Given the description of an element on the screen output the (x, y) to click on. 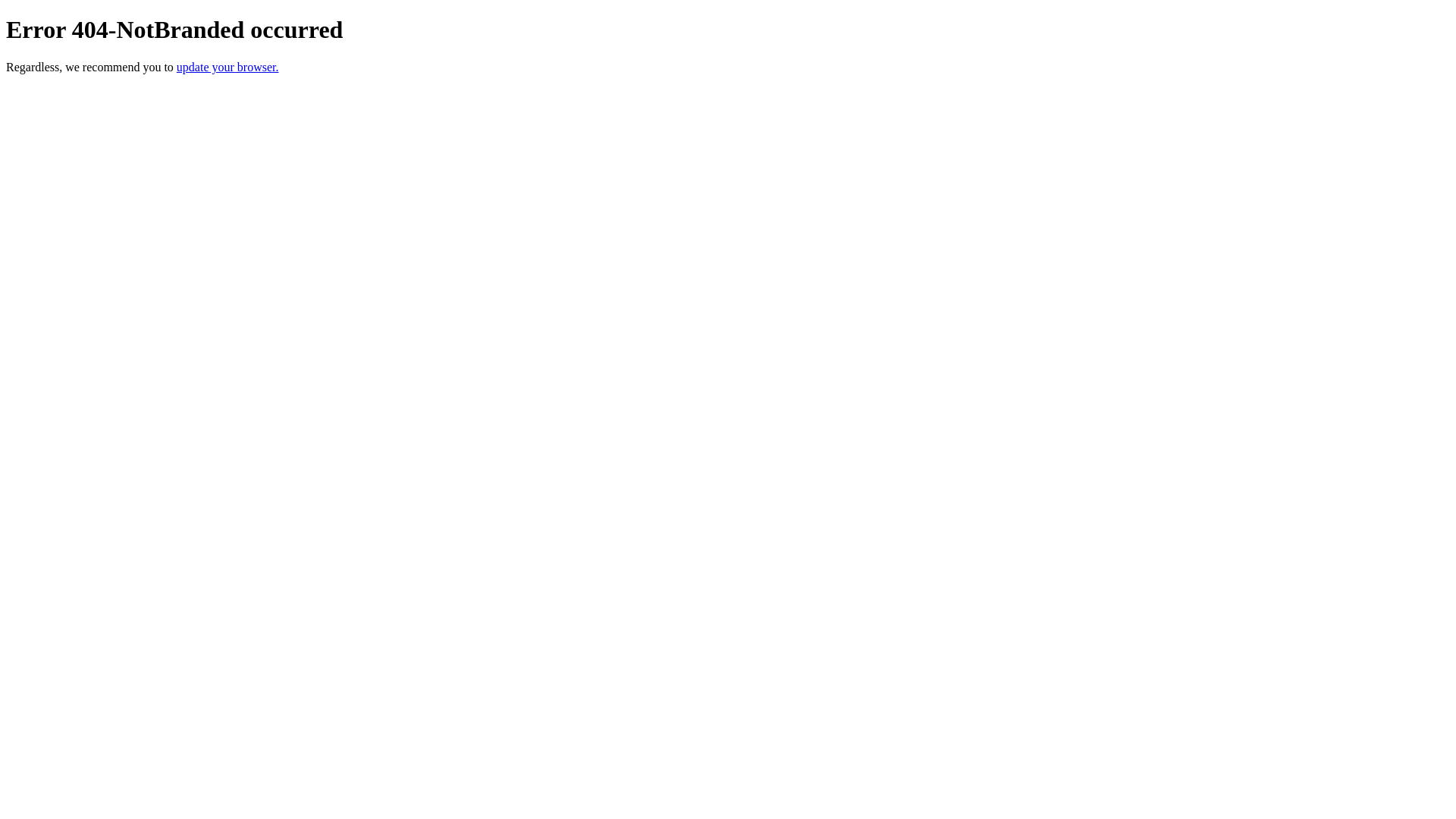
update your browser. Element type: text (227, 66)
